Given the description of an element on the screen output the (x, y) to click on. 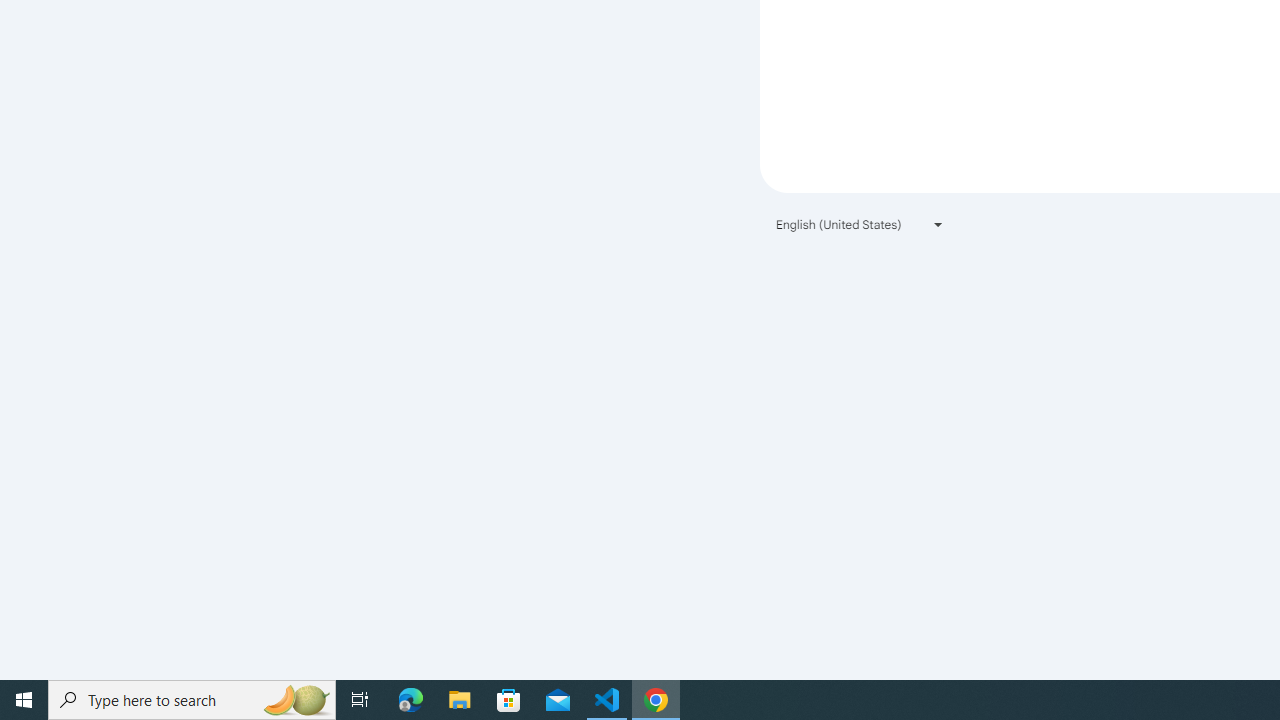
English (United States) (860, 224)
